Given the description of an element on the screen output the (x, y) to click on. 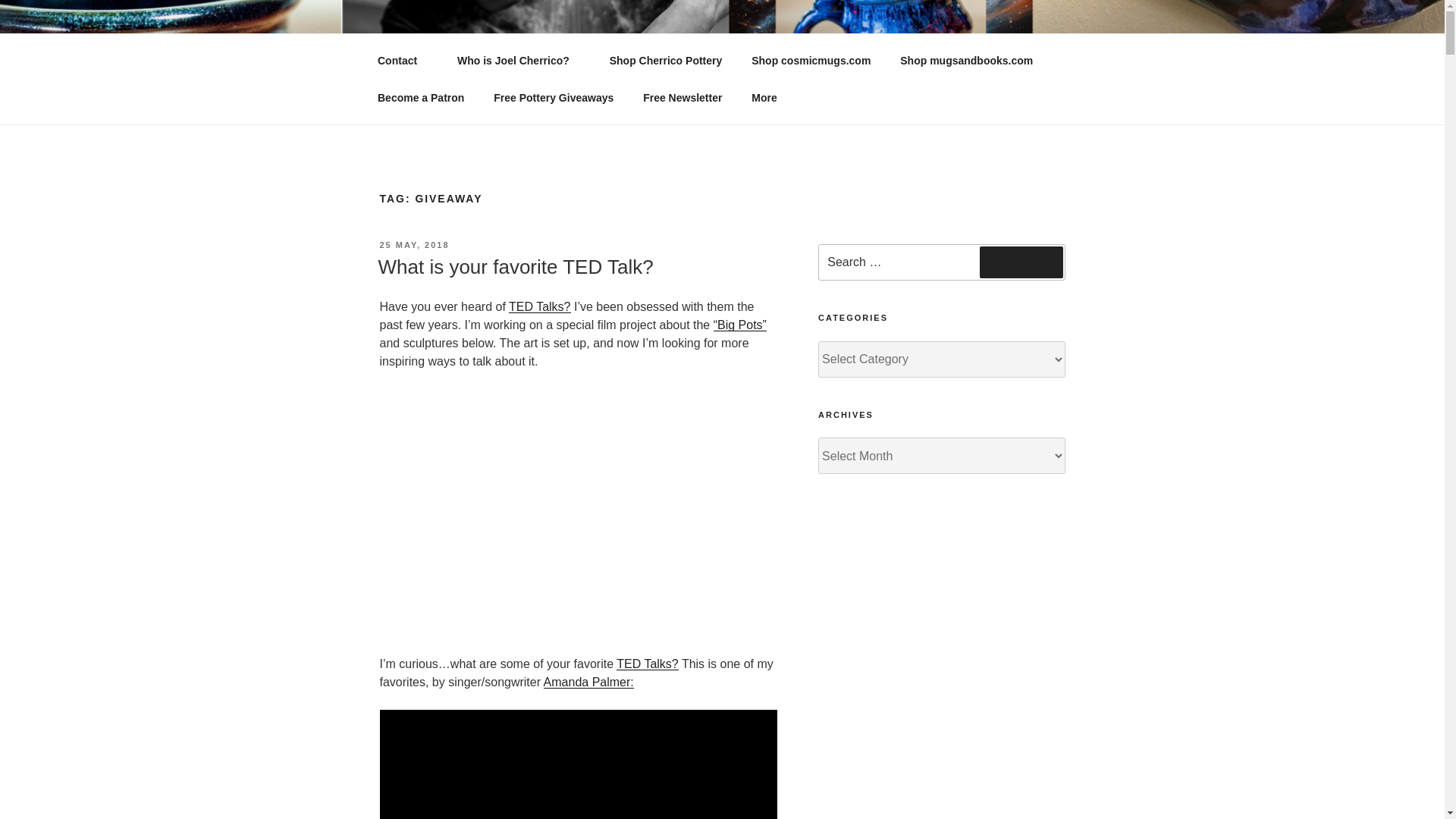
Become a Patron (420, 97)
Free Pottery Giveaways (553, 97)
Free Newsletter (682, 97)
Contact (402, 60)
Shop Cherrico Pottery (665, 60)
Shop cosmicmugs.com (810, 60)
Shop mugsandbooks.com (966, 60)
JOEL CHERRICO POTTERY (581, 52)
Who is Joel Cherrico? (519, 60)
More (769, 97)
